Given the description of an element on the screen output the (x, y) to click on. 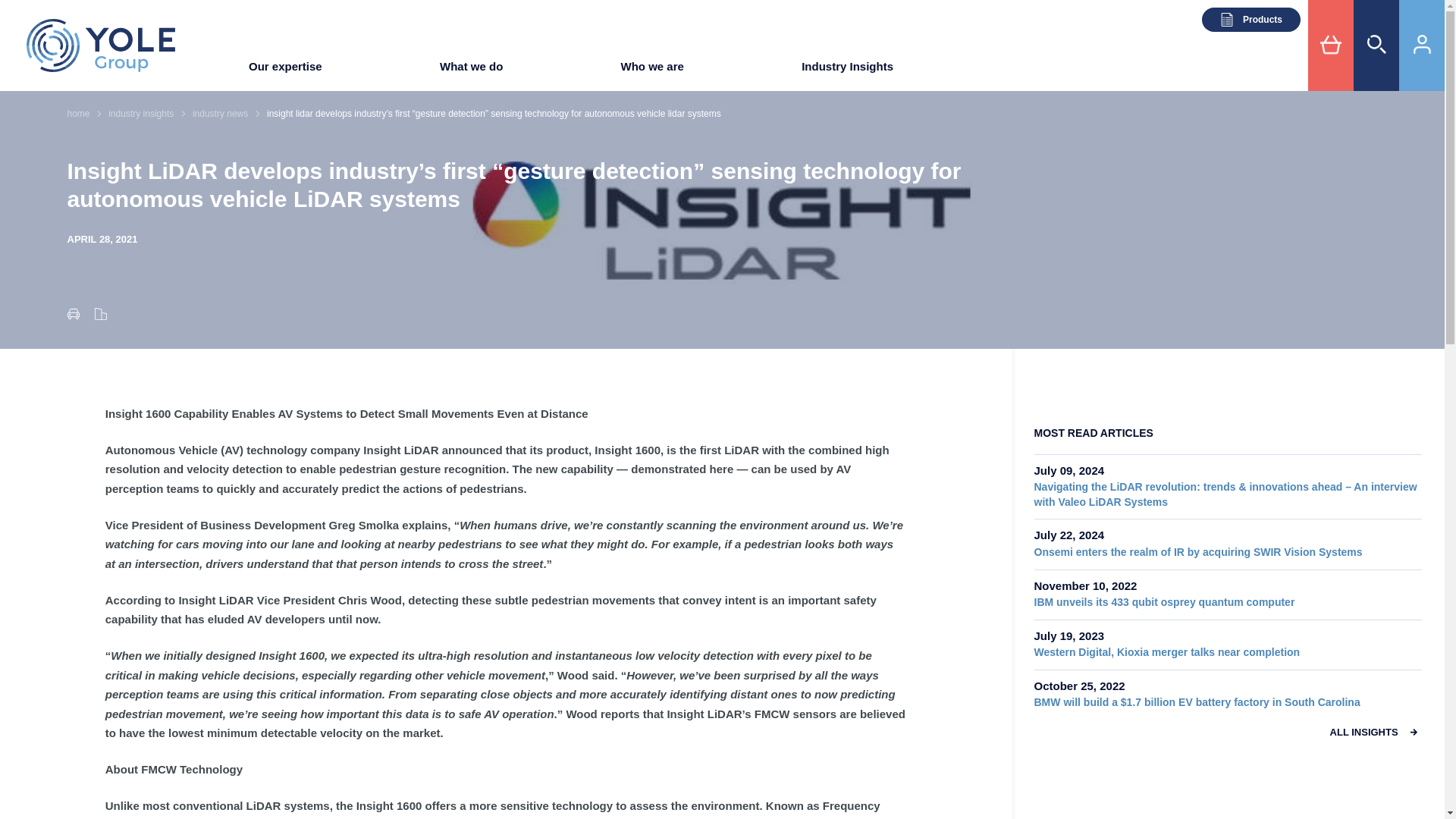
What we do (470, 71)
Who we are (652, 71)
Our expertise (284, 71)
Products (1251, 19)
